Given the description of an element on the screen output the (x, y) to click on. 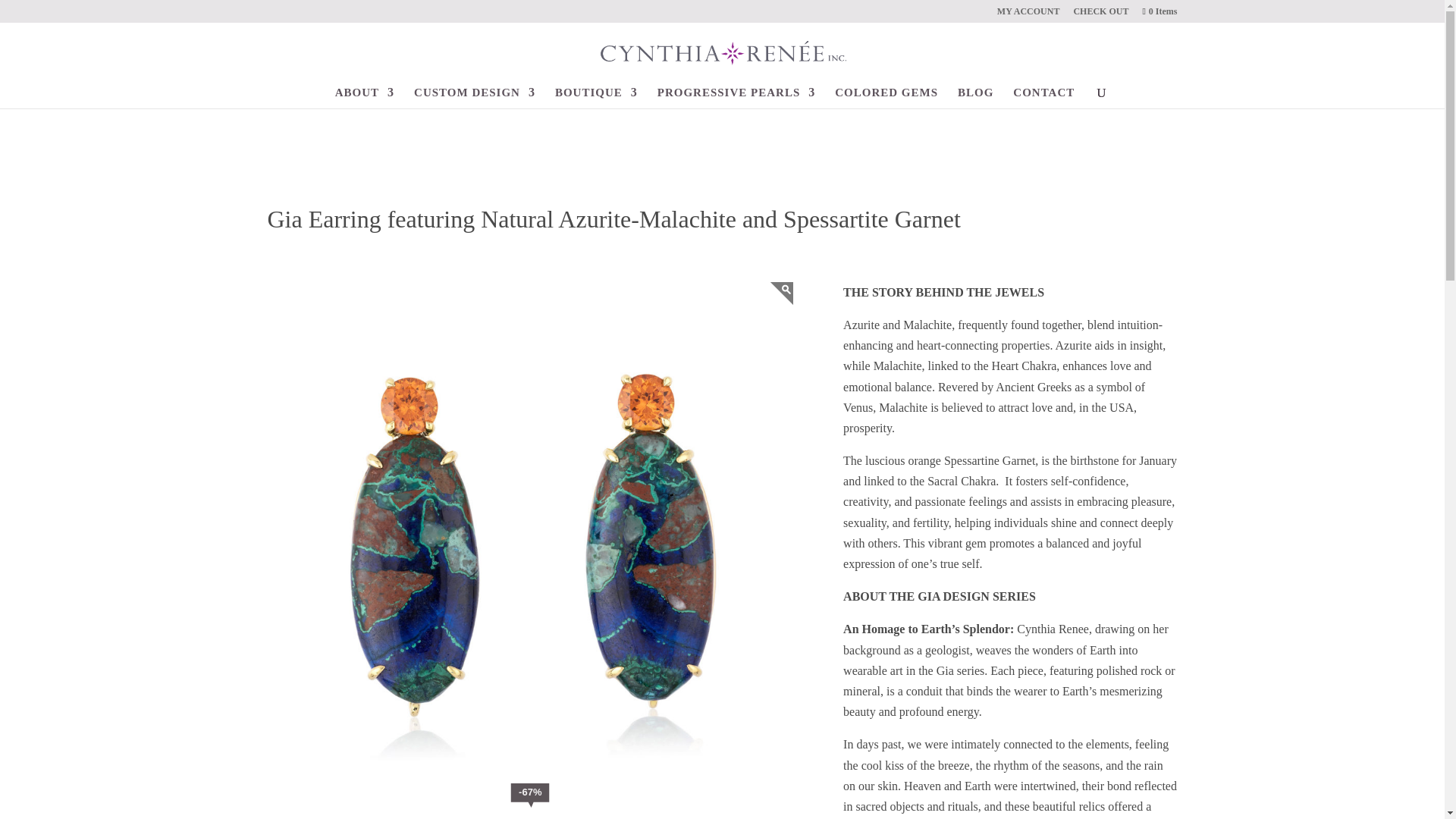
BOUTIQUE (595, 97)
ABOUT (364, 97)
CHECK OUT (1100, 14)
0 Items (1158, 10)
CUSTOM DESIGN (474, 97)
MY ACCOUNT (1028, 14)
PROGRESSIVE PEARLS (736, 97)
